Given the description of an element on the screen output the (x, y) to click on. 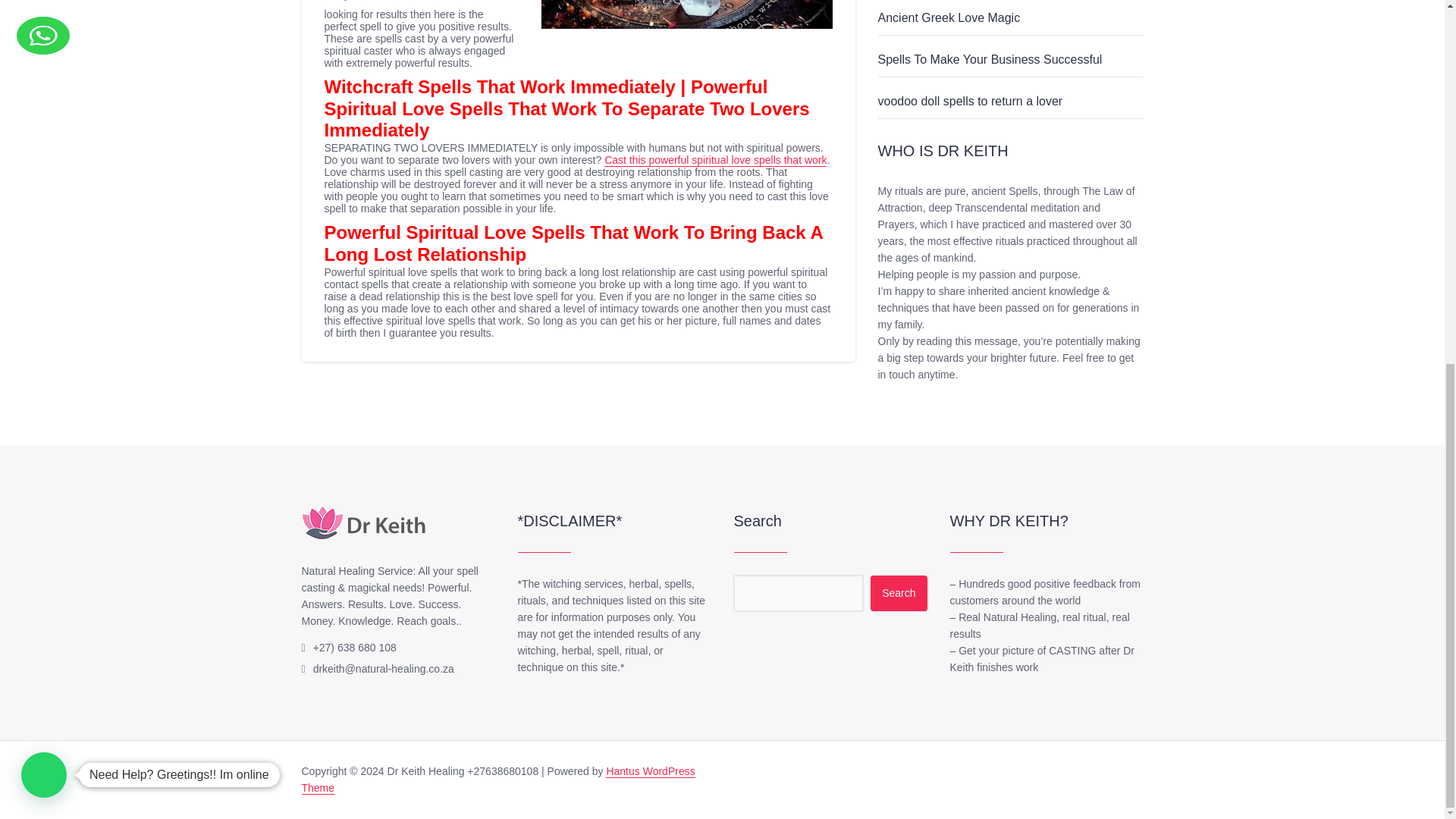
Search (898, 592)
Cast this powerful spiritual love spells that work (715, 160)
Hantus WordPress Theme (498, 779)
Search (898, 592)
Search (898, 592)
voodoo doll spells to return a lover (969, 101)
Ancient Greek Love Magic (948, 17)
Spells To Make Your Business Successful (989, 59)
